Given the description of an element on the screen output the (x, y) to click on. 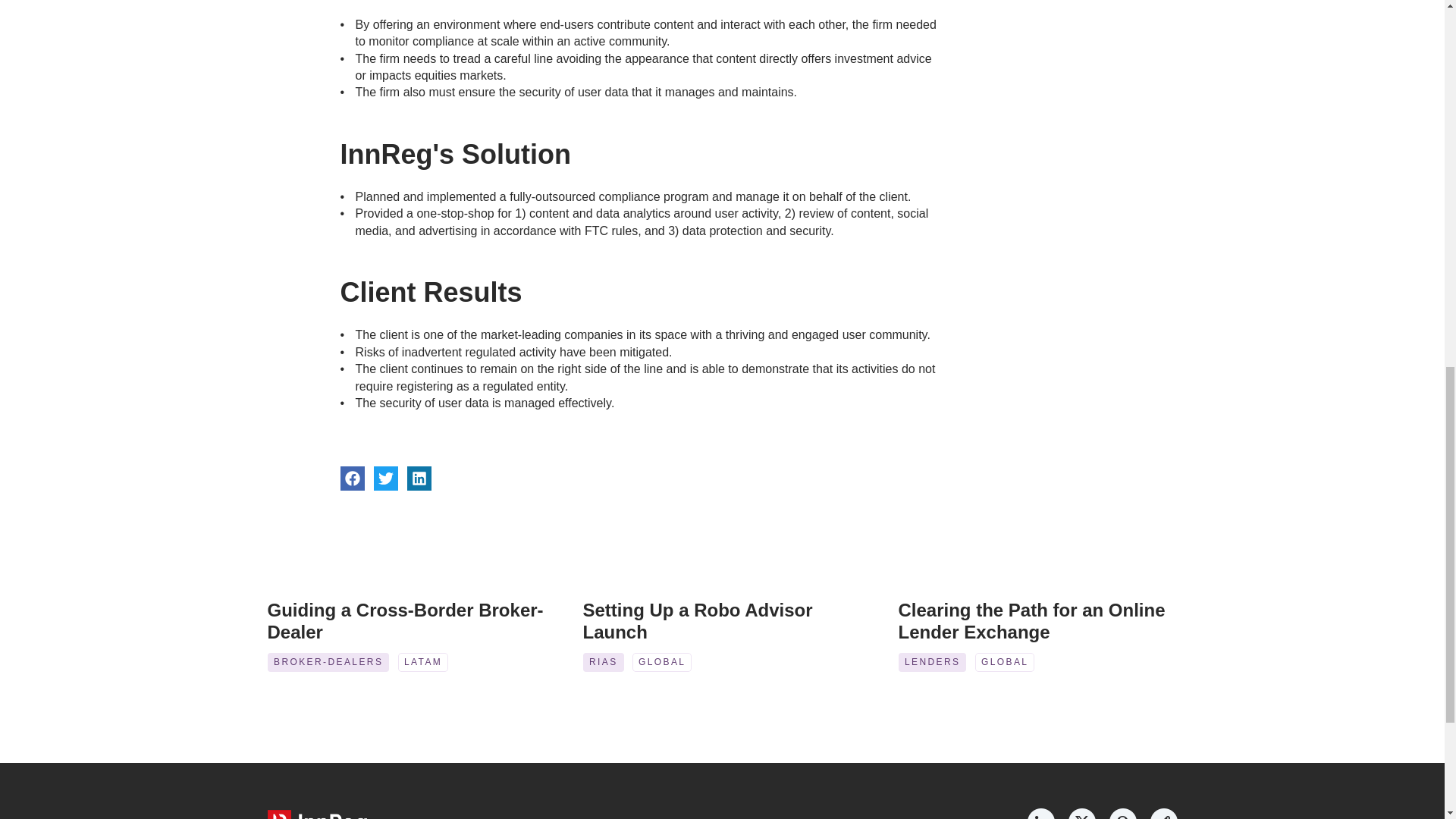
Guiding a Cross-Border Broker-Dealer (404, 620)
LATAM (422, 661)
GLOBAL (661, 661)
Clearing the Path for an Online Lender Exchange (1034, 620)
Setting Up a Robo Advisor Launch (699, 620)
GLOBAL (1004, 661)
RIAS (602, 661)
LENDERS (931, 661)
BROKER-DEALERS (327, 661)
